Given the description of an element on the screen output the (x, y) to click on. 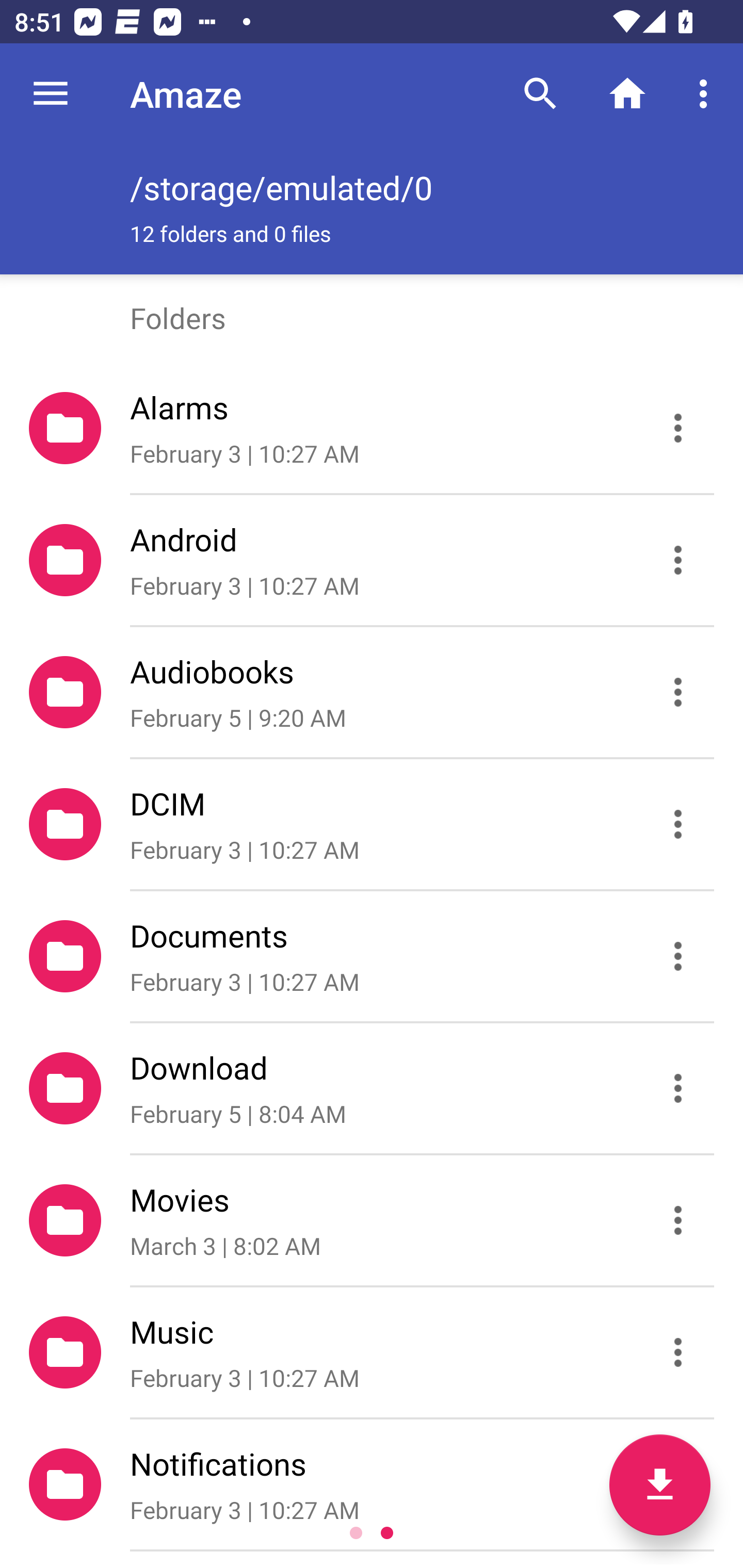
Navigate up (50, 93)
Search (540, 93)
Home (626, 93)
More options (706, 93)
Alarms February 3 | 10:27 AM (371, 427)
Android February 3 | 10:27 AM (371, 560)
Audiobooks February 5 | 9:20 AM (371, 692)
DCIM February 3 | 10:27 AM (371, 823)
Documents February 3 | 10:27 AM (371, 955)
Download February 5 | 8:04 AM (371, 1088)
Movies March 3 | 8:02 AM (371, 1220)
Music February 3 | 10:27 AM (371, 1352)
Notifications February 3 | 10:27 AM (371, 1484)
